Given the description of an element on the screen output the (x, y) to click on. 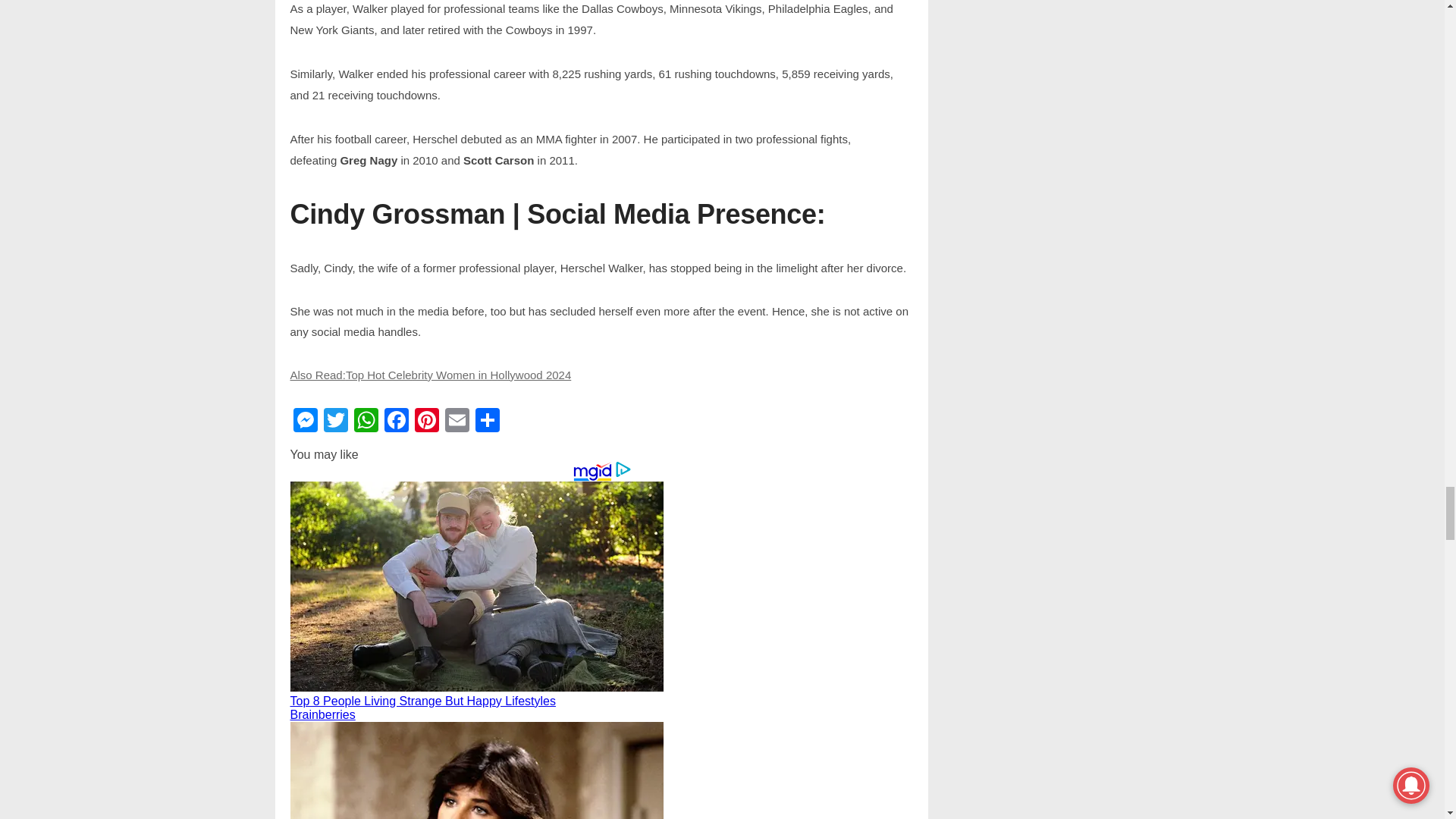
Email (456, 421)
WhatsApp (365, 421)
Messenger (304, 421)
Pinterest (425, 421)
Facebook (395, 421)
Twitter (335, 421)
